Given the description of an element on the screen output the (x, y) to click on. 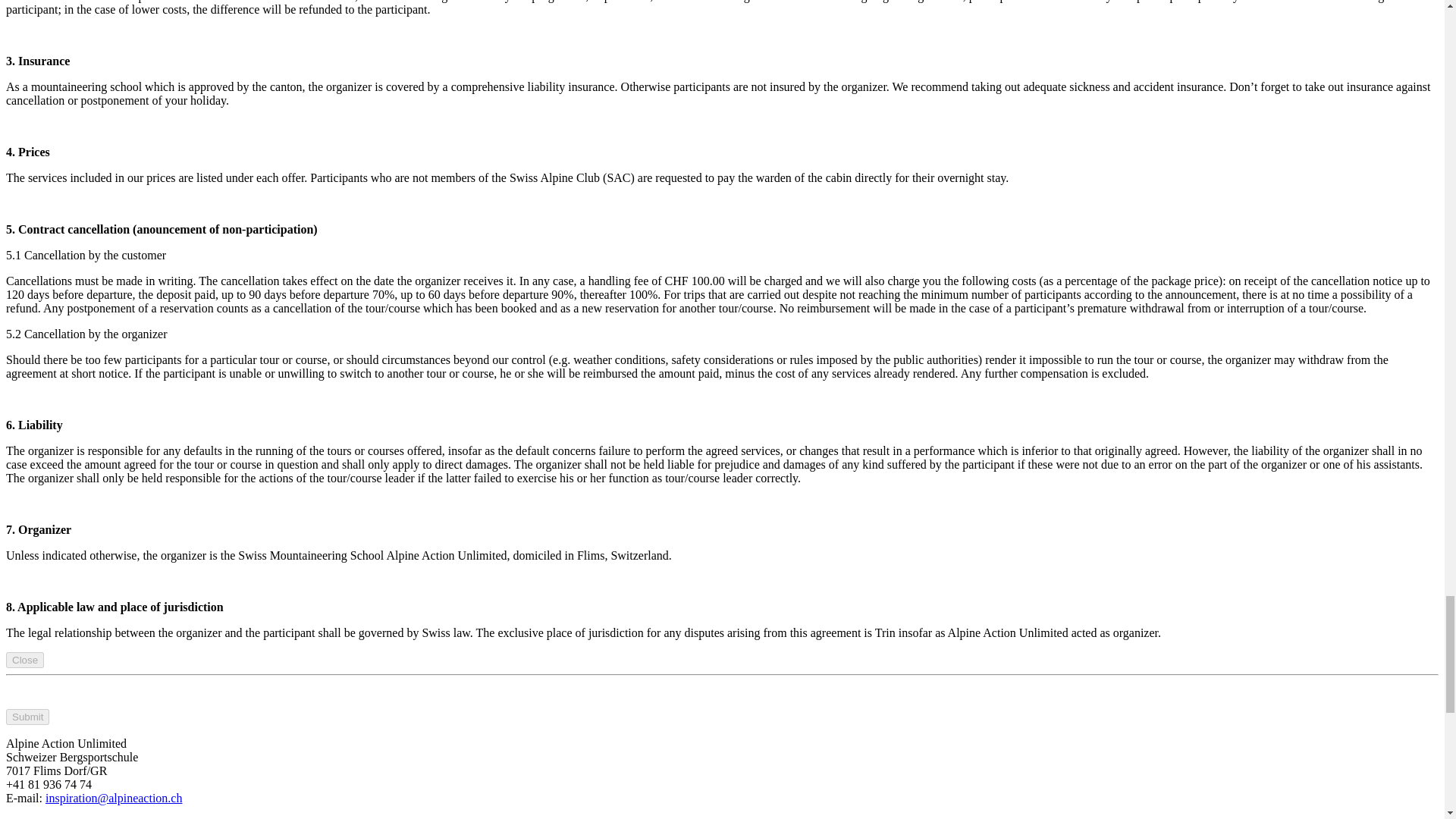
Links (50, 818)
Close (24, 659)
Submit (27, 716)
